Given the description of an element on the screen output the (x, y) to click on. 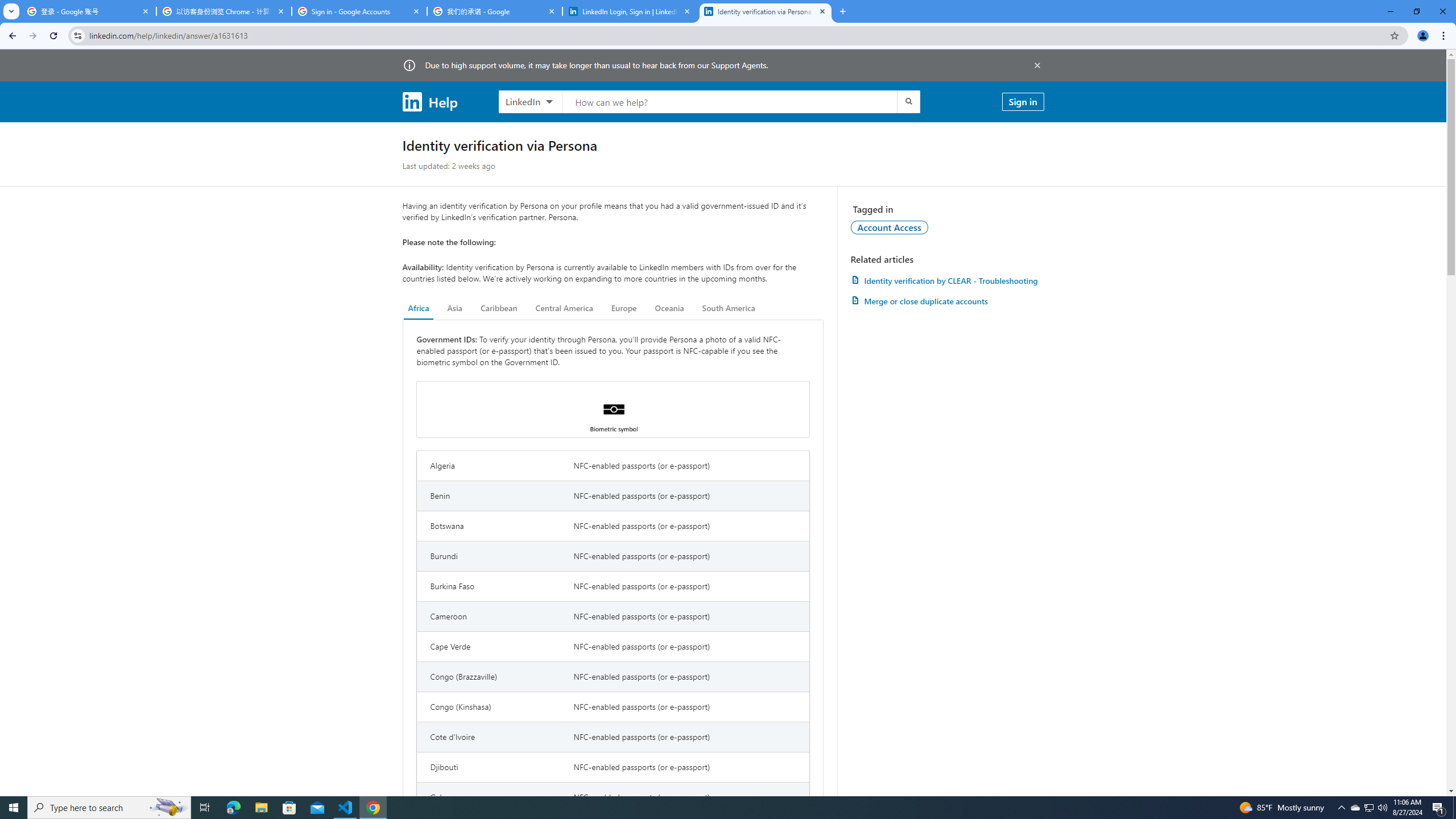
AutomationID: topic-link-a151002 (889, 227)
South America (728, 308)
Account Access (889, 227)
